Given the description of an element on the screen output the (x, y) to click on. 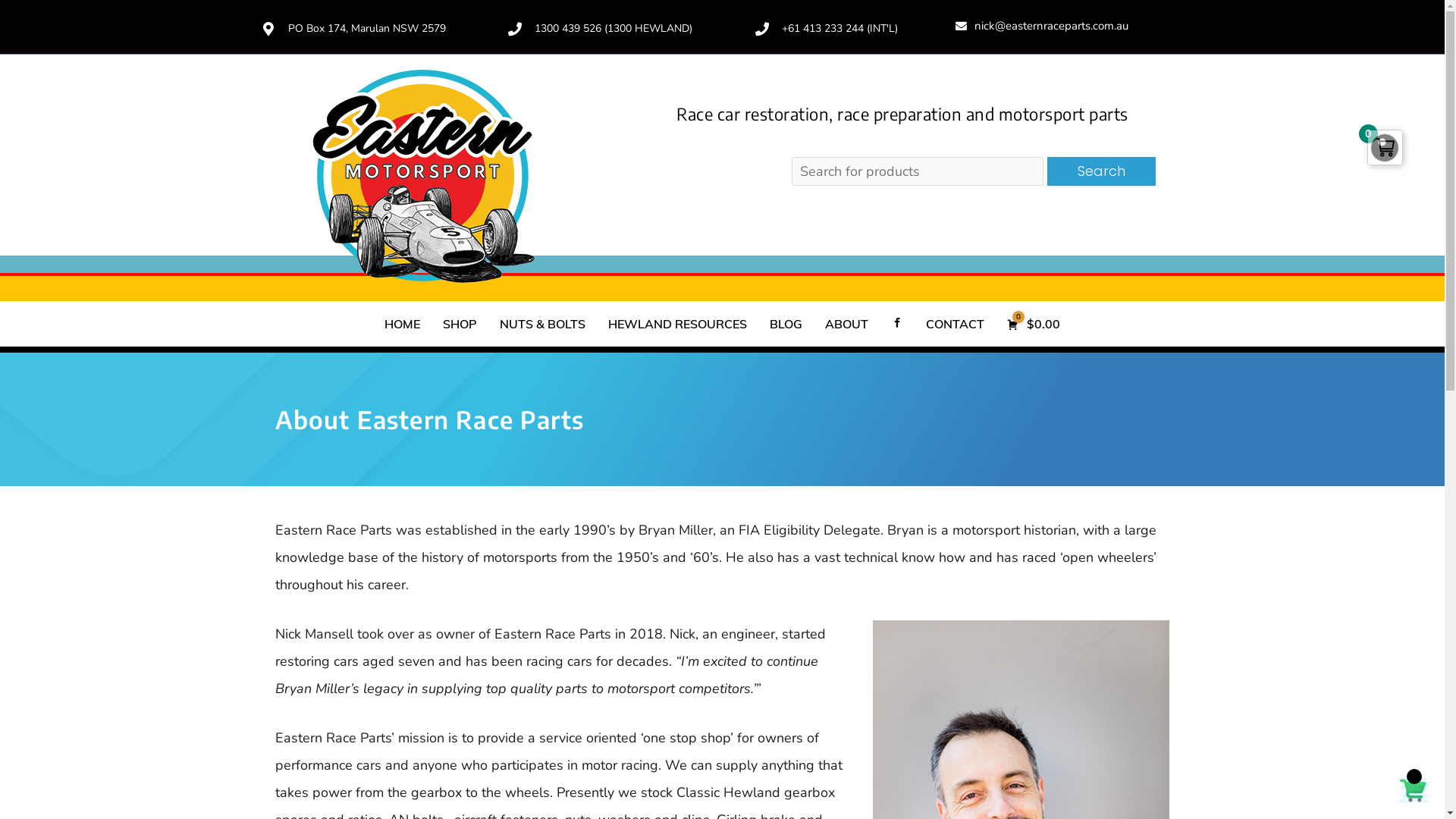
CONTACT Element type: text (954, 323)
0
$0.00 Element type: text (1033, 323)
ABOUT Element type: text (846, 323)
HOME Element type: text (402, 323)
nick@easternraceparts.com.au Element type: text (1041, 26)
NUTS & BOLTS Element type: text (542, 323)
HEWLAND RESOURCES Element type: text (677, 323)
1300 439 526 (1300 HEWLAND) Element type: text (599, 28)
Search Element type: hover (1101, 170)
SHOP Element type: text (459, 323)
Search Element type: text (1101, 170)
BLOG Element type: text (785, 323)
+61 413 233 244 (INT'L) Element type: text (825, 28)
